Given the description of an element on the screen output the (x, y) to click on. 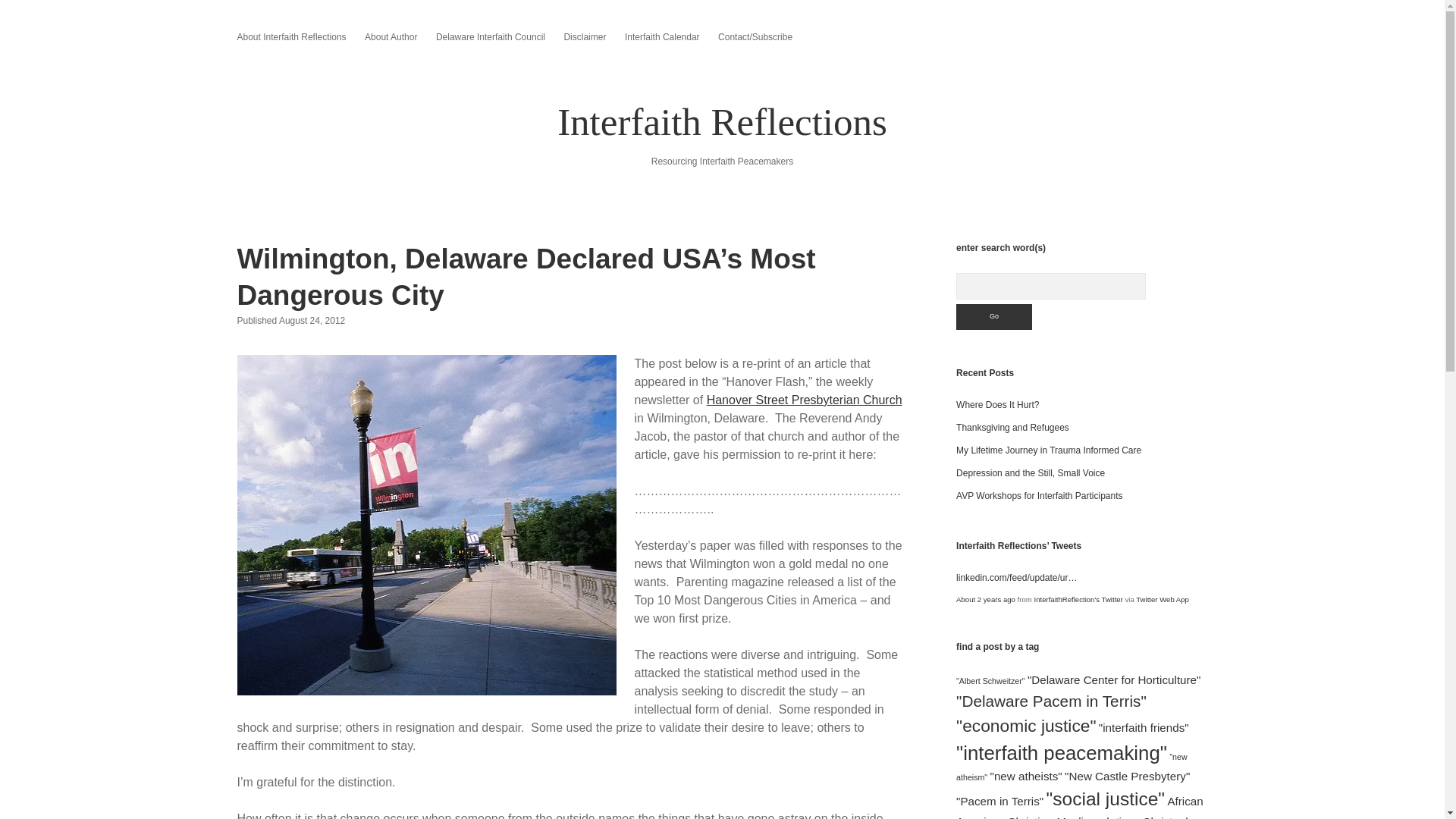
Go (994, 316)
Go (994, 316)
Hanover Street Presbyterian Church (804, 399)
Thanksgiving and Refugees (1012, 427)
About Interfaith Reflections (290, 37)
Disclaimer (584, 37)
Where Does It Hurt? (997, 404)
Go (994, 316)
InterfaithReflection (1077, 599)
About Author (390, 37)
